Given the description of an element on the screen output the (x, y) to click on. 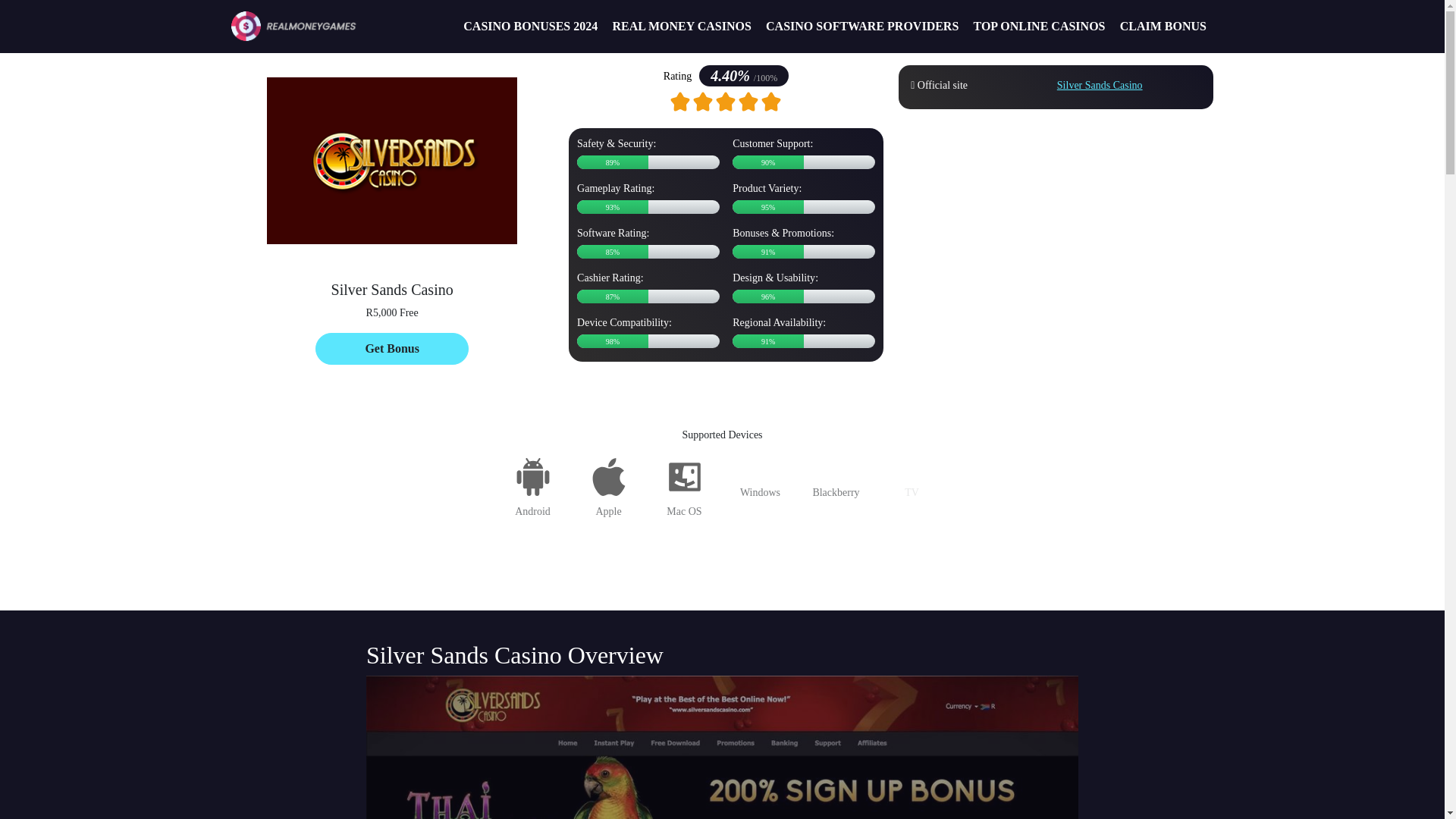
CLAIM BONUS (1162, 26)
Get Bonus (391, 348)
REAL MONEY CASINOS (681, 26)
CASINO SOFTWARE PROVIDERS (861, 26)
TOP ONLINE CASINOS (1039, 26)
CASINO BONUSES 2024 (531, 26)
Silver Sands Casino (1099, 84)
